Given the description of an element on the screen output the (x, y) to click on. 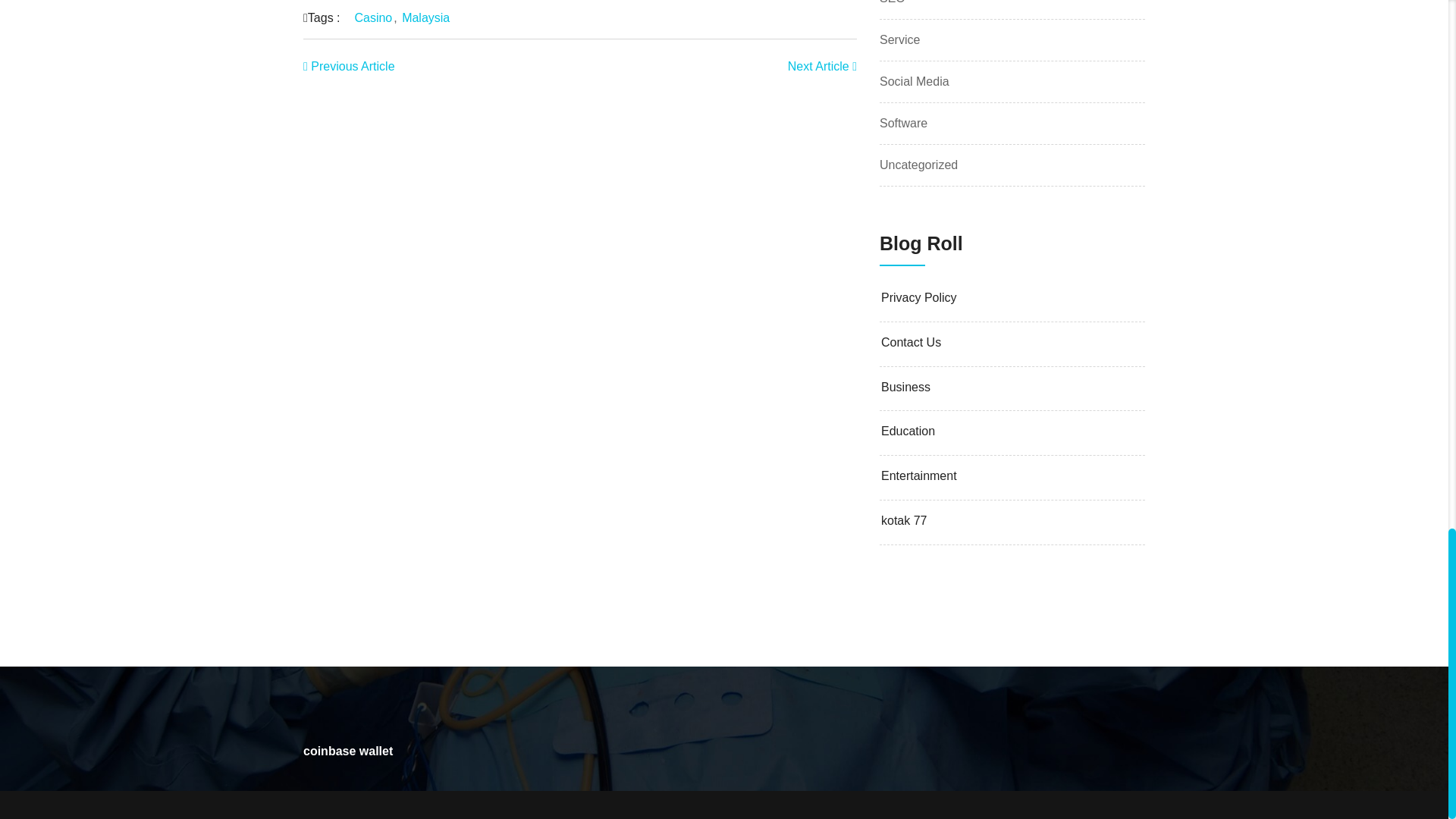
Contact Us (1012, 342)
Software (903, 123)
Next Article (822, 65)
Privacy Policy (1012, 298)
Casino (372, 17)
SEO (892, 2)
Social Media (914, 81)
Uncategorized (918, 164)
Malaysia (425, 17)
Service (899, 39)
Previous Article (348, 65)
